Given the description of an element on the screen output the (x, y) to click on. 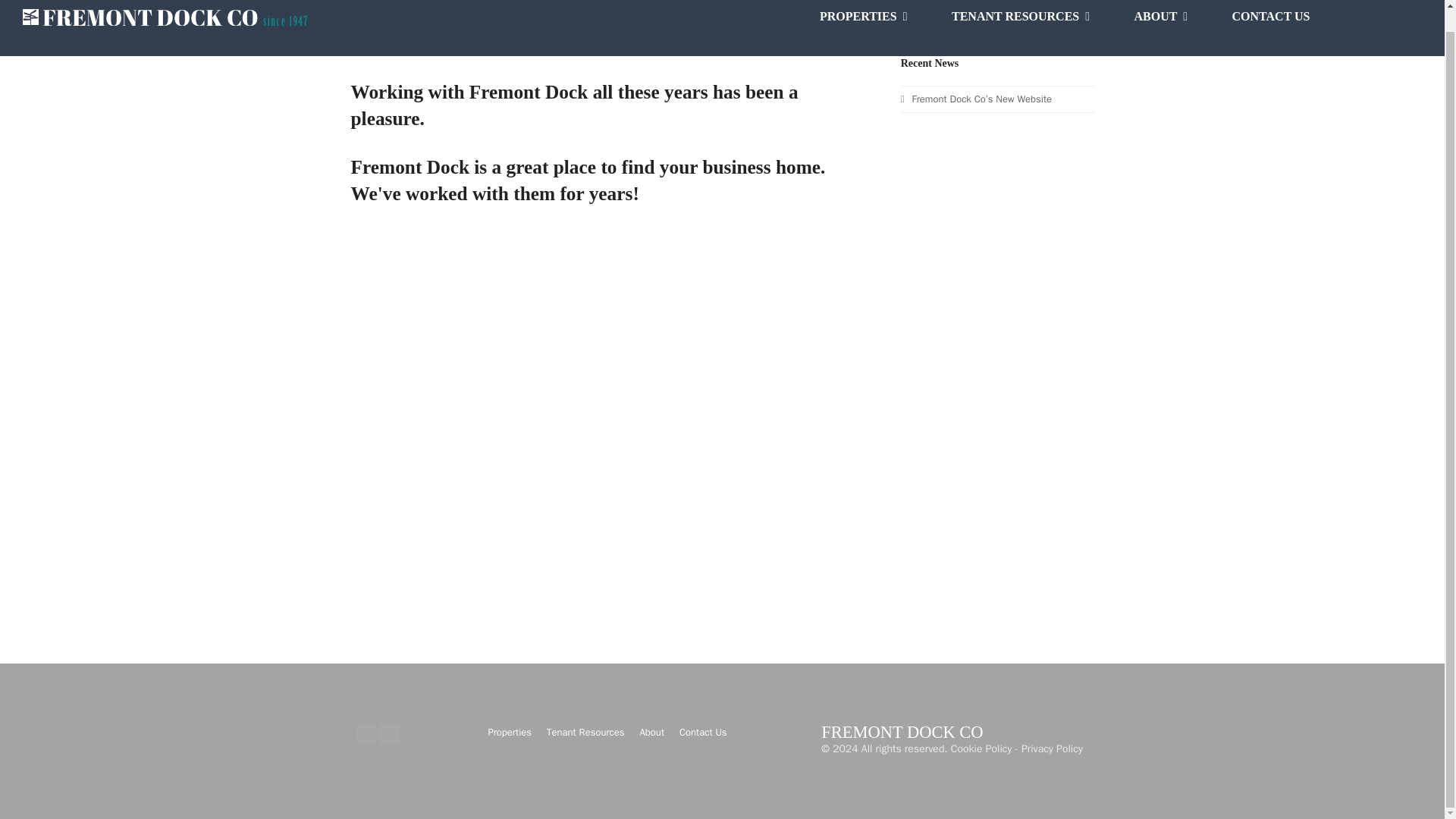
PROPERTIES (863, 28)
CONTACT US (1270, 28)
TENANT RESOURCES (1020, 28)
Privacy Policy (1052, 748)
INSTAGRAM (1412, 16)
About (651, 731)
Facebook (365, 733)
FACEBOOK (1363, 16)
Facebook (365, 733)
Contact Us (702, 731)
